Given the description of an element on the screen output the (x, y) to click on. 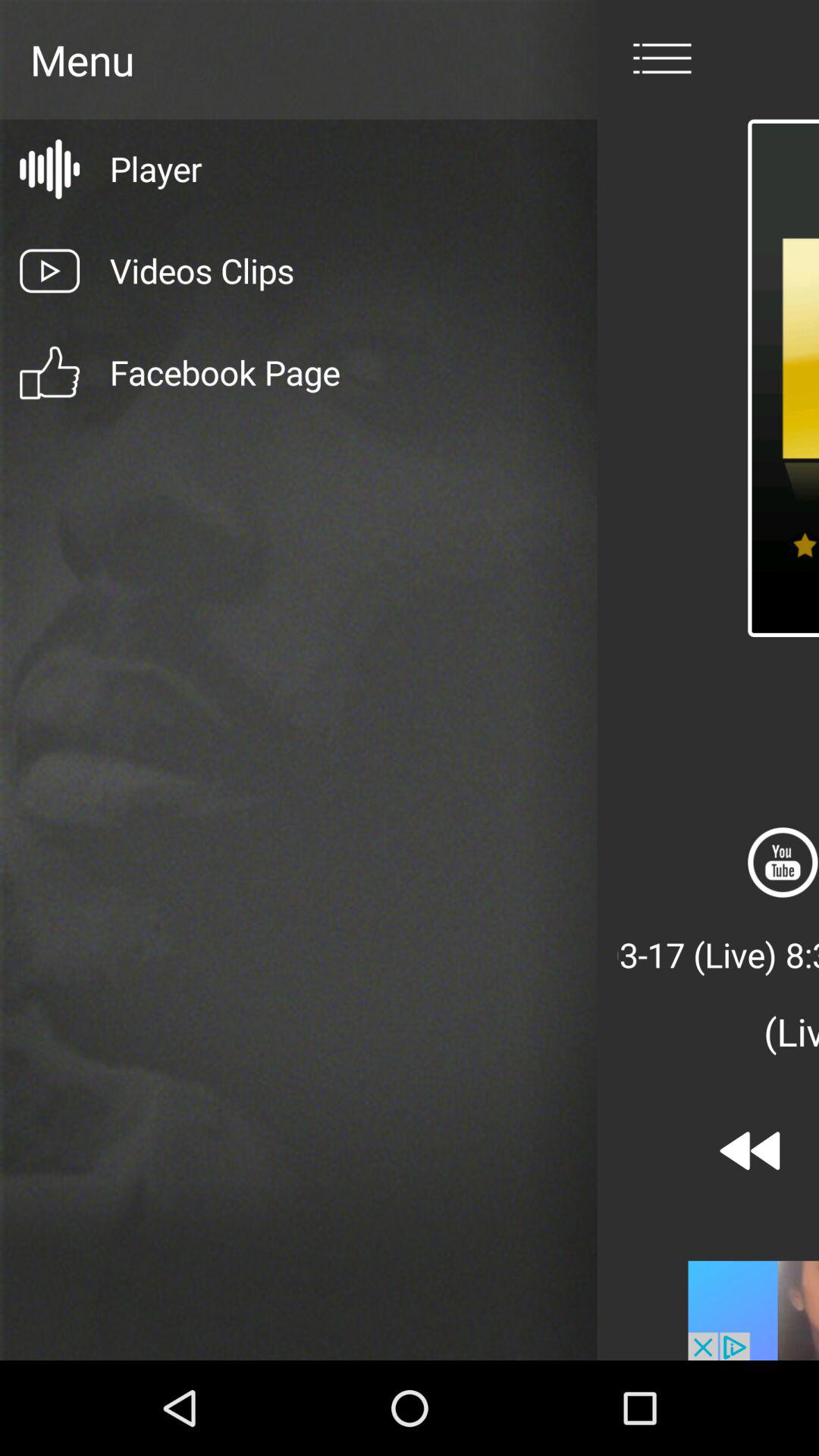
menu icon (662, 59)
